Given the description of an element on the screen output the (x, y) to click on. 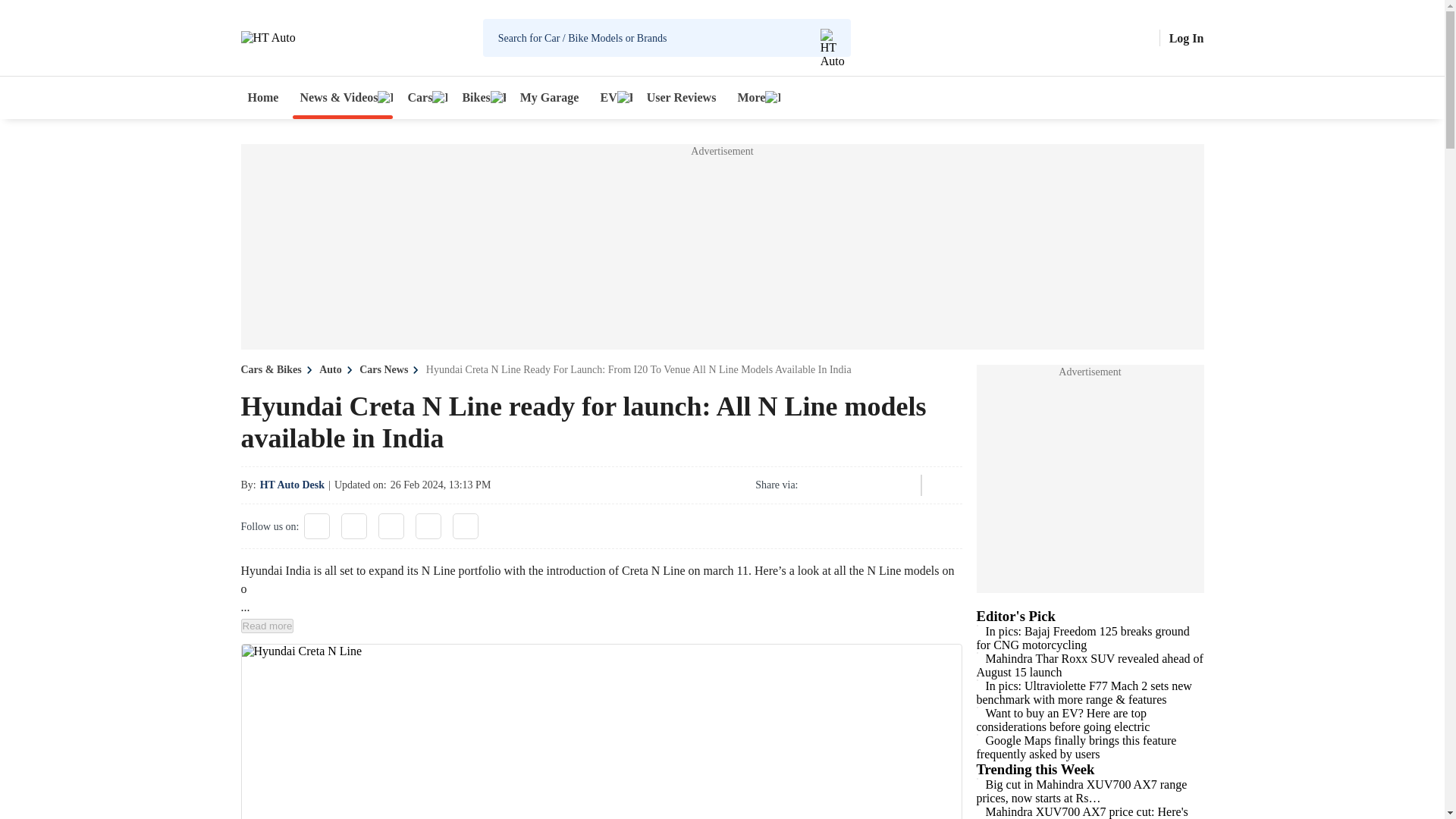
Tweet (857, 484)
My Garage (549, 97)
EV (611, 97)
Home (263, 97)
Cars (423, 97)
Bikes (479, 97)
Facebook Share (816, 484)
Log In (1186, 37)
